Given the description of an element on the screen output the (x, y) to click on. 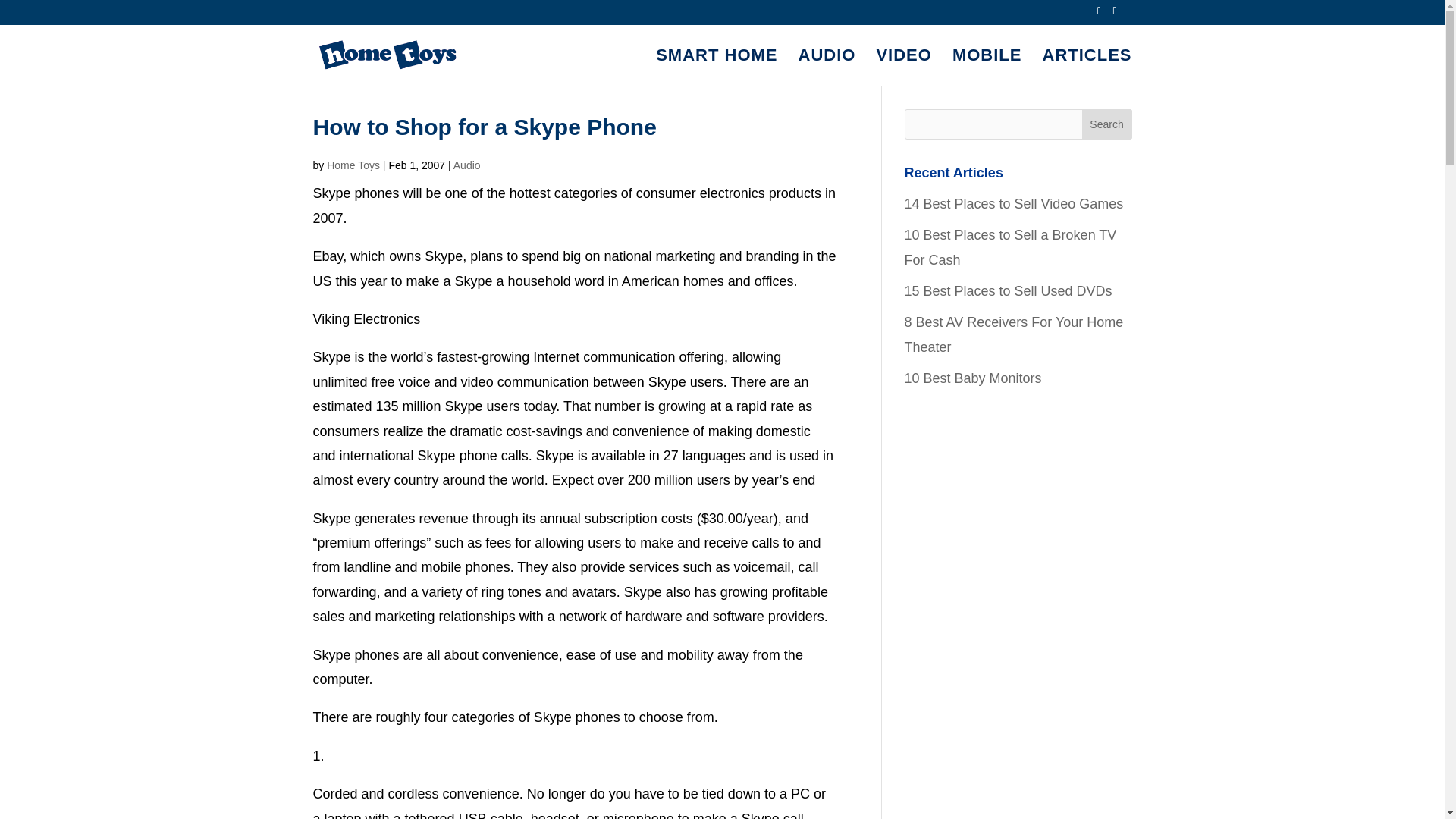
14 Best Places to Sell Video Games (1013, 203)
Posts by Home Toys (353, 164)
MOBILE (987, 67)
Home Toys (353, 164)
10 Best Baby Monitors (972, 378)
Search (1106, 123)
ARTICLES (1086, 67)
10 Best Places to Sell a Broken TV For Cash (1010, 246)
AUDIO (826, 67)
15 Best Places to Sell Used DVDs (1008, 290)
VIDEO (903, 67)
8 Best AV Receivers For Your Home Theater (1013, 333)
SMART HOME (716, 67)
Audio (466, 164)
